Given the description of an element on the screen output the (x, y) to click on. 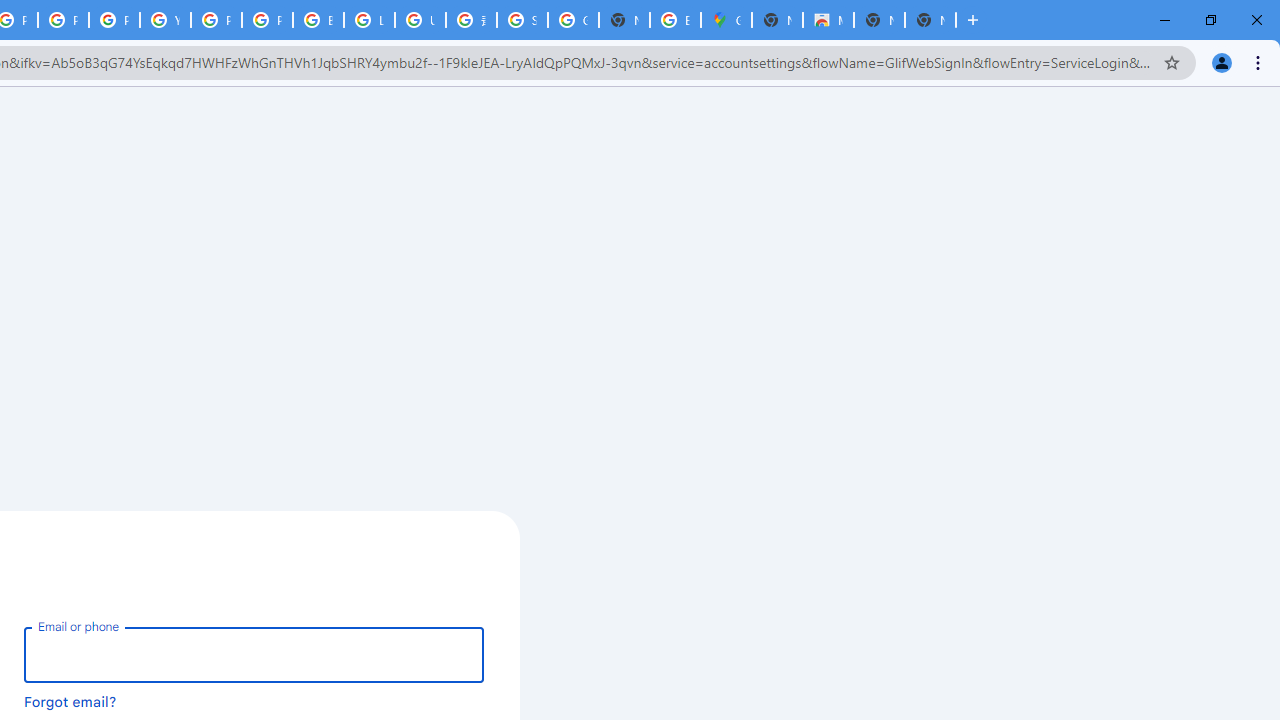
YouTube (164, 20)
Sign in - Google Accounts (521, 20)
Browse Chrome as a guest - Computer - Google Chrome Help (318, 20)
New Tab (972, 20)
Forgot email? (70, 701)
Explore new street-level details - Google Maps Help (675, 20)
Minimize (1165, 20)
Restore (1210, 20)
Google Maps (726, 20)
New Tab (930, 20)
